Given the description of an element on the screen output the (x, y) to click on. 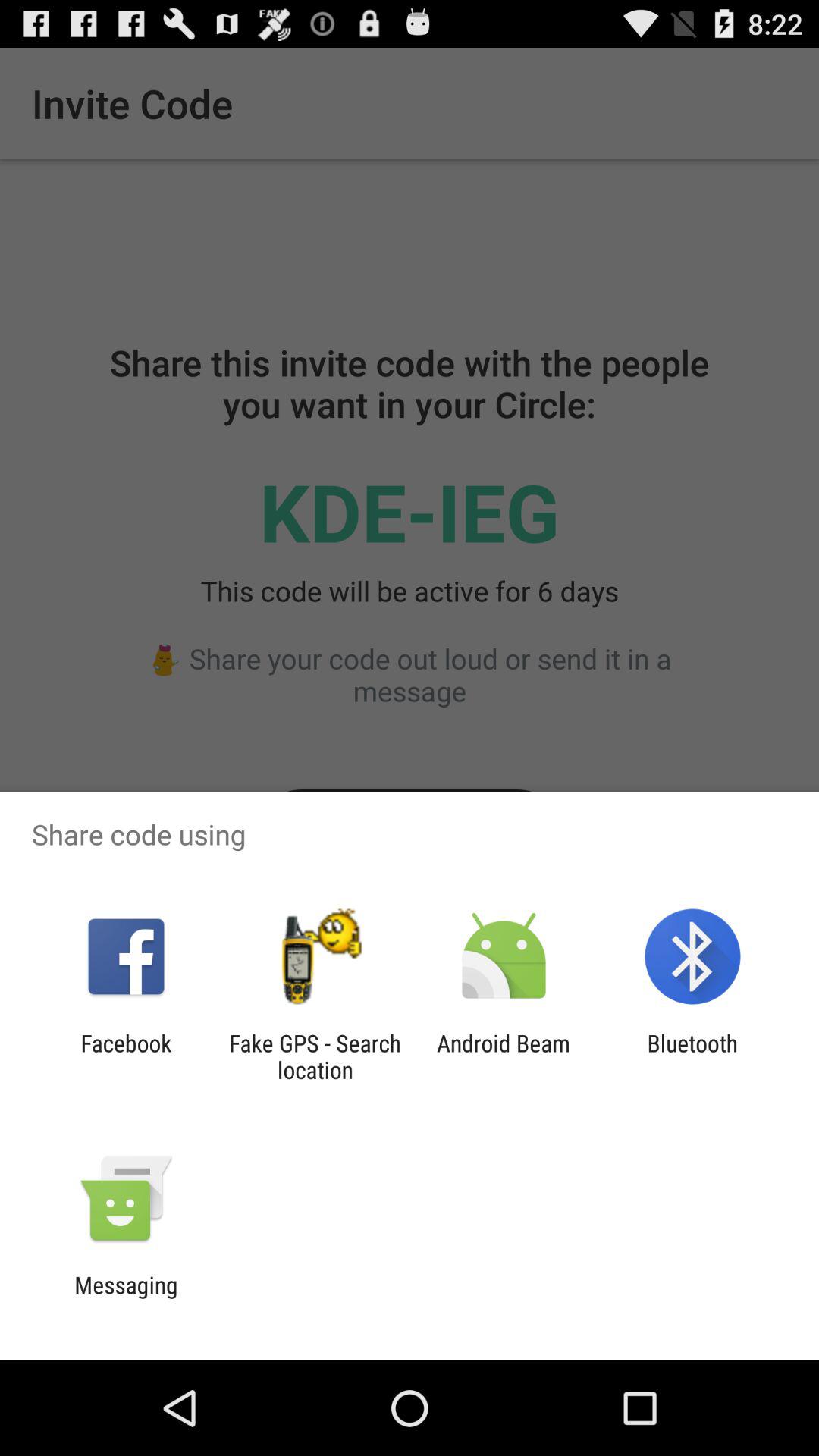
select app at the bottom right corner (692, 1056)
